Given the description of an element on the screen output the (x, y) to click on. 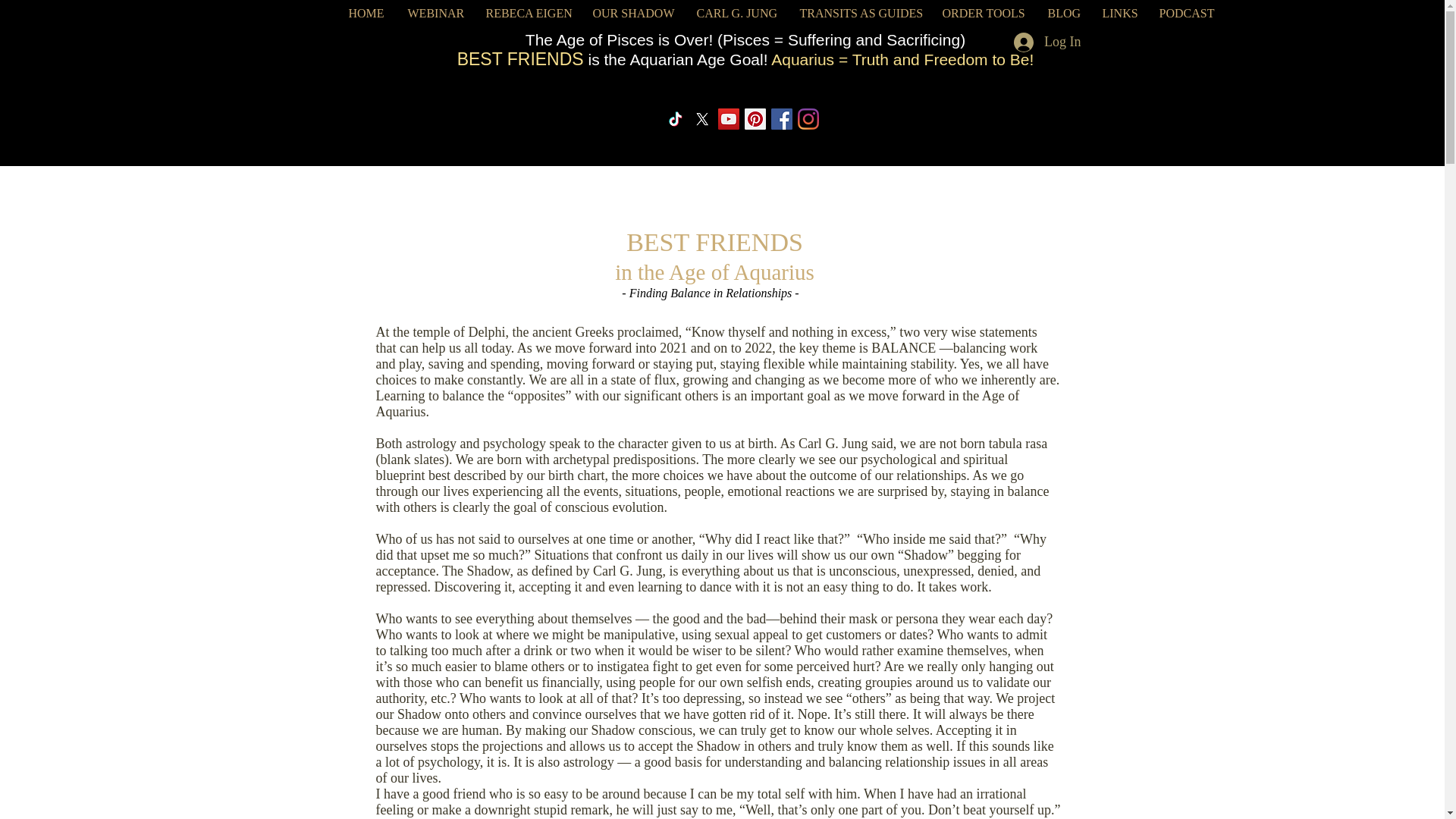
Log In (1041, 23)
HOME (366, 13)
REBECA EIGEN (527, 13)
WEBINAR (435, 13)
